Given the description of an element on the screen output the (x, y) to click on. 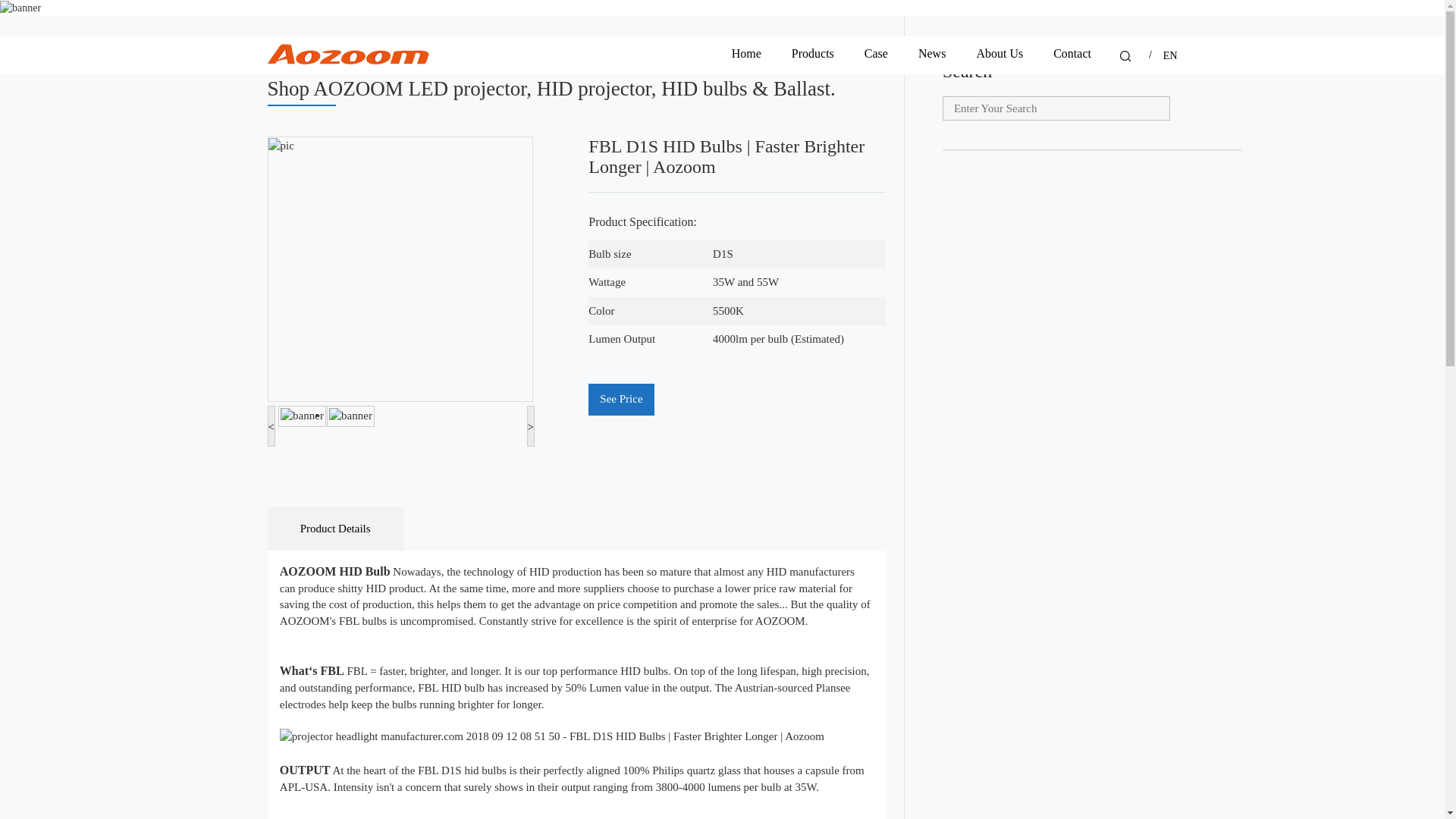
Search (1126, 55)
redirect to Aozoom. (285, 43)
HID Bulbs (408, 43)
Home (285, 43)
Products (813, 55)
Product Details (334, 528)
Contact (1071, 55)
EN (1170, 55)
Go to the HID Bulbs product category archives. (408, 43)
Product (338, 43)
About Us (999, 55)
Go to the Product product category archives. (338, 43)
See Price (620, 399)
EN (1170, 55)
